Given the description of an element on the screen output the (x, y) to click on. 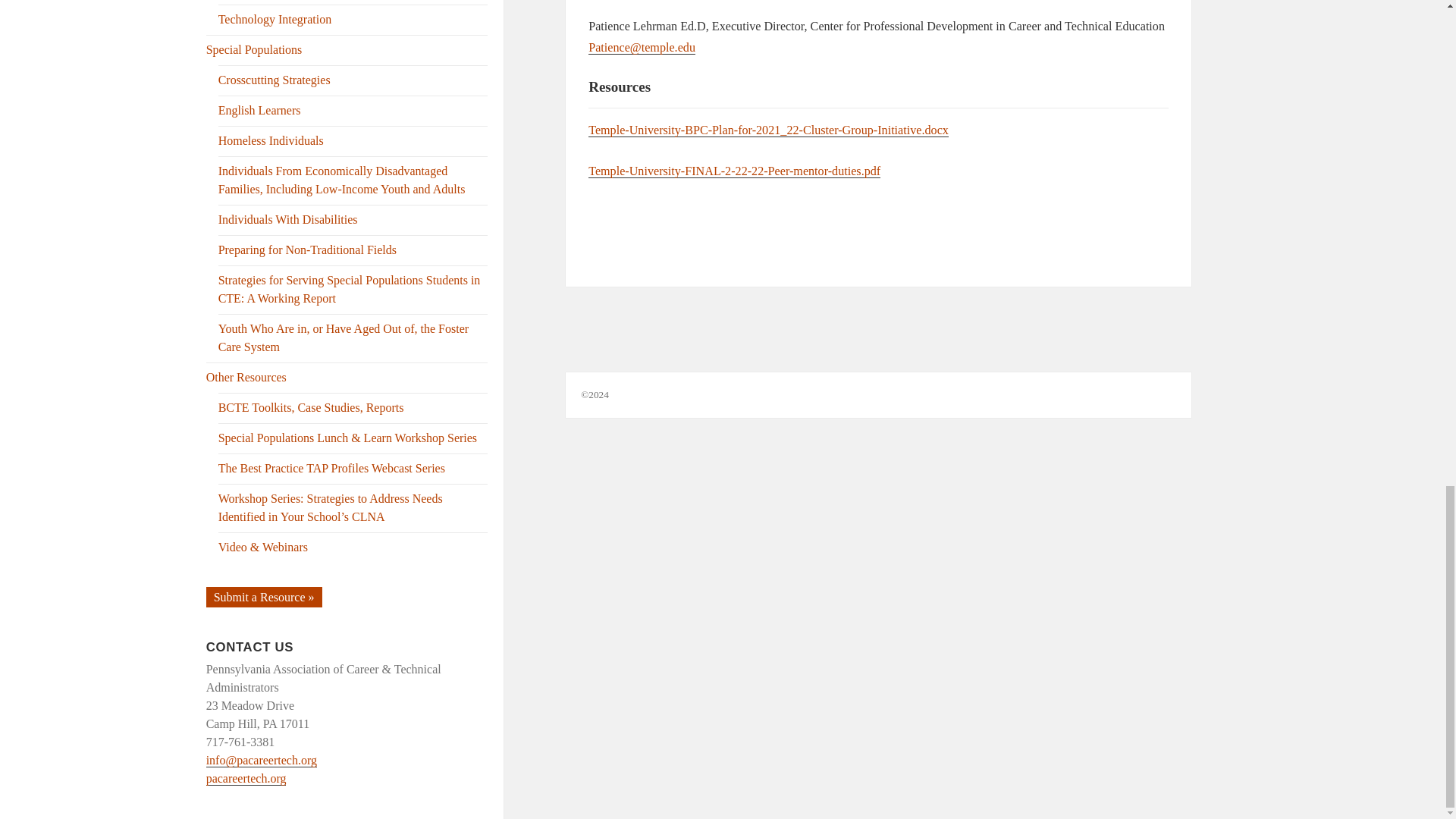
Technology Integration (274, 19)
Special Populations (254, 49)
Crosscutting Strategies (274, 79)
